Given the description of an element on the screen output the (x, y) to click on. 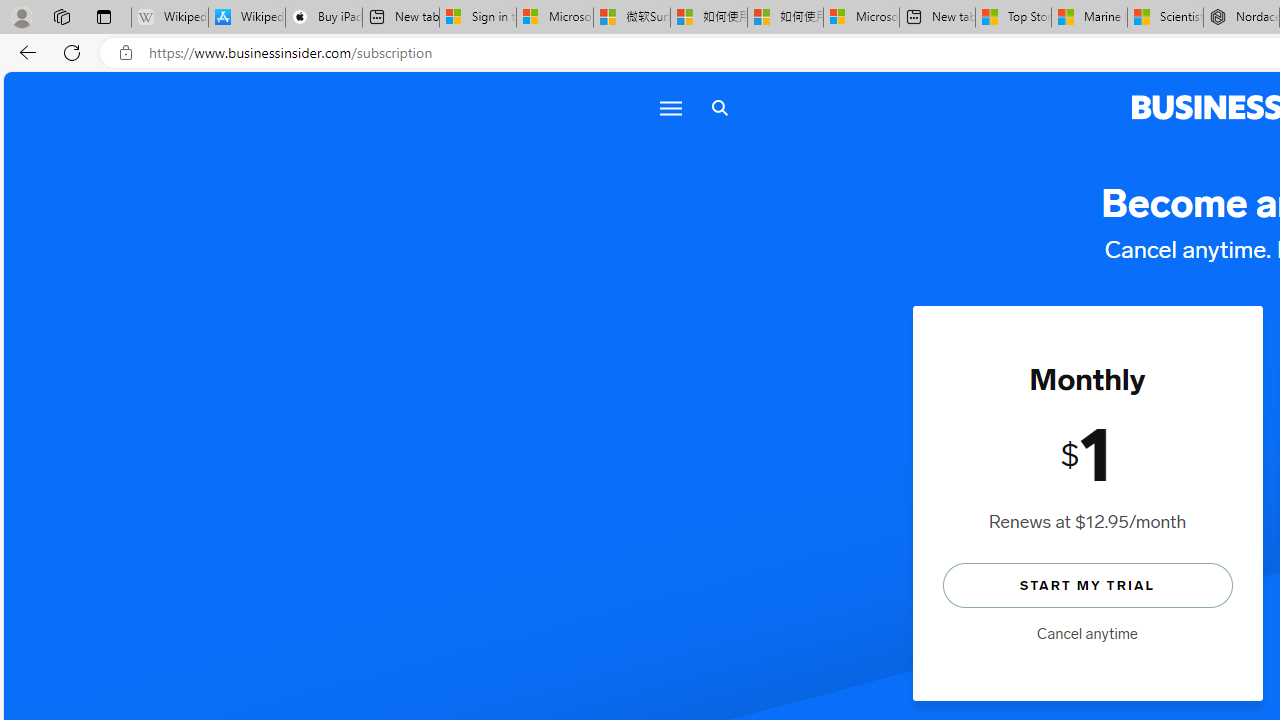
START MY TRIAL (1087, 584)
Menu (669, 107)
